Given the description of an element on the screen output the (x, y) to click on. 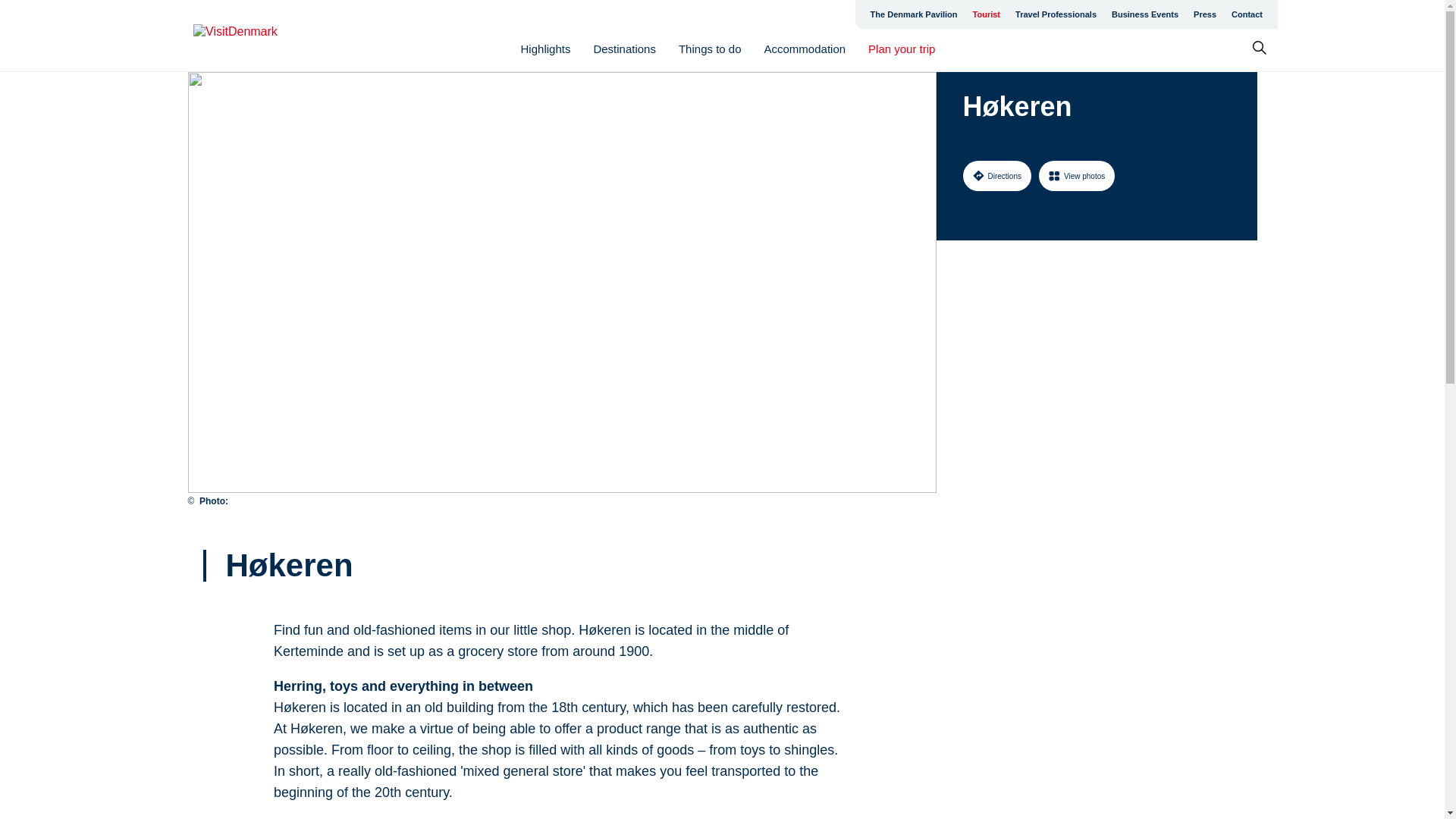
The Denmark Pavilion (914, 14)
Plan your trip (900, 48)
Things to do (709, 48)
Destinations (624, 48)
Tourist (986, 14)
Contact (1246, 14)
Travel Professionals (1055, 14)
Business Events (1144, 14)
Go to homepage (253, 35)
Accommodation (804, 48)
